Given the description of an element on the screen output the (x, y) to click on. 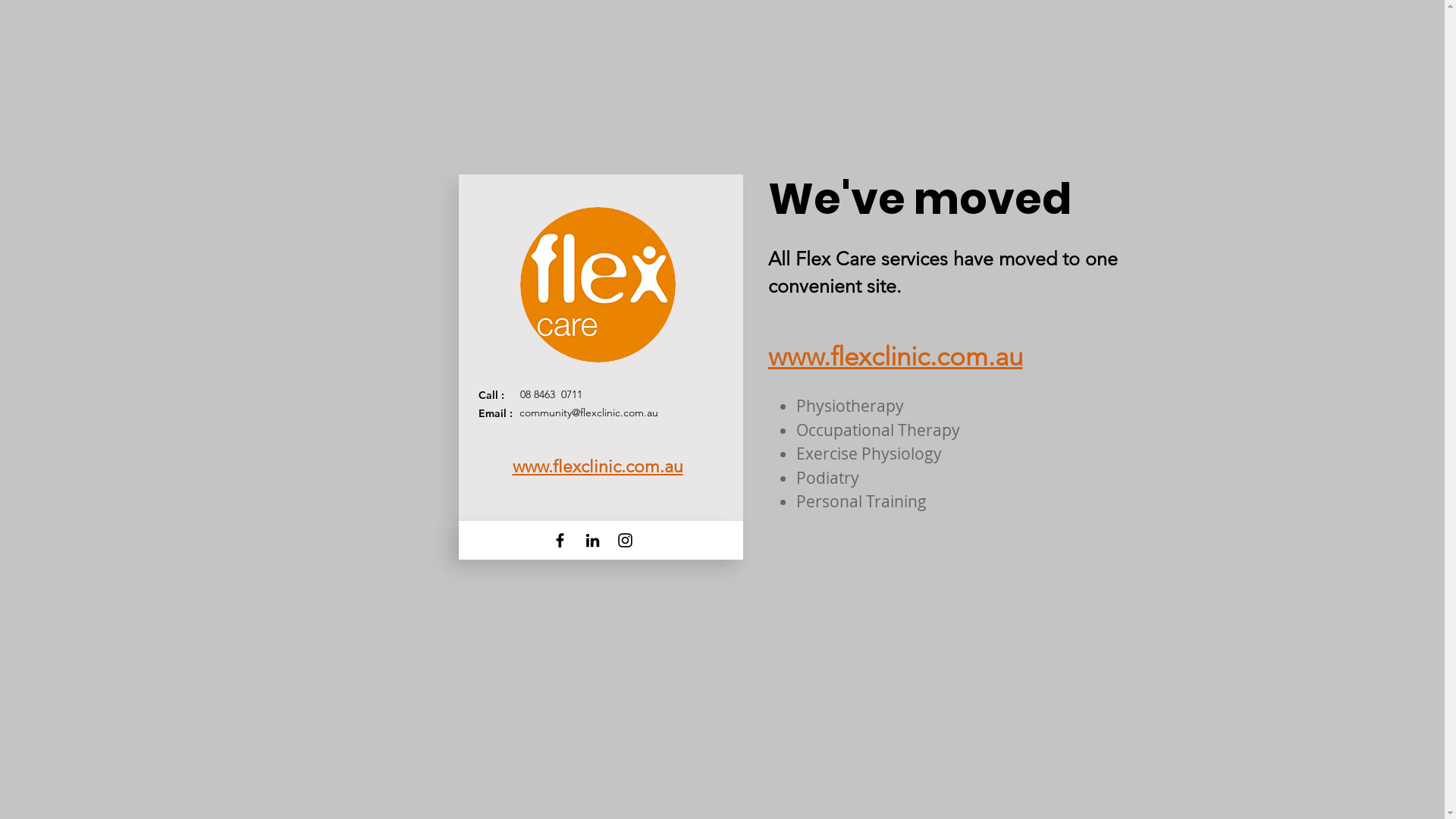
www.flexclinic.com.au Element type: text (894, 355)
www.flexclinic.com.au Element type: text (597, 465)
community@flexclinic.com.au Element type: text (587, 412)
